Given the description of an element on the screen output the (x, y) to click on. 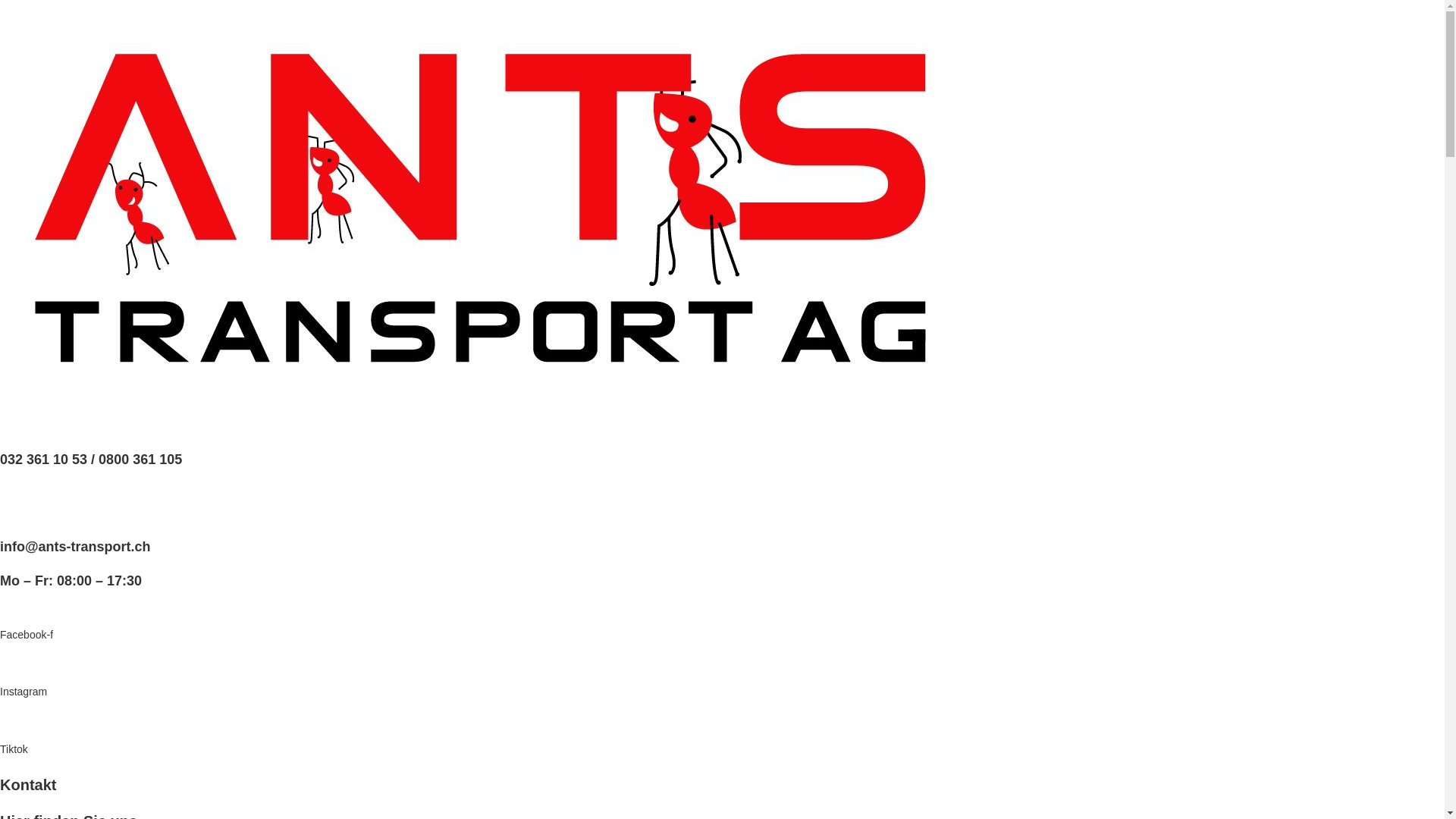
Instagram Element type: text (23, 700)
Facebook-f Element type: text (26, 643)
info@ants-transport.ch Element type: text (75, 556)
Tiktok Element type: text (14, 758)
032 361 10 53 / 0800 361 105 Element type: text (91, 468)
